Given the description of an element on the screen output the (x, y) to click on. 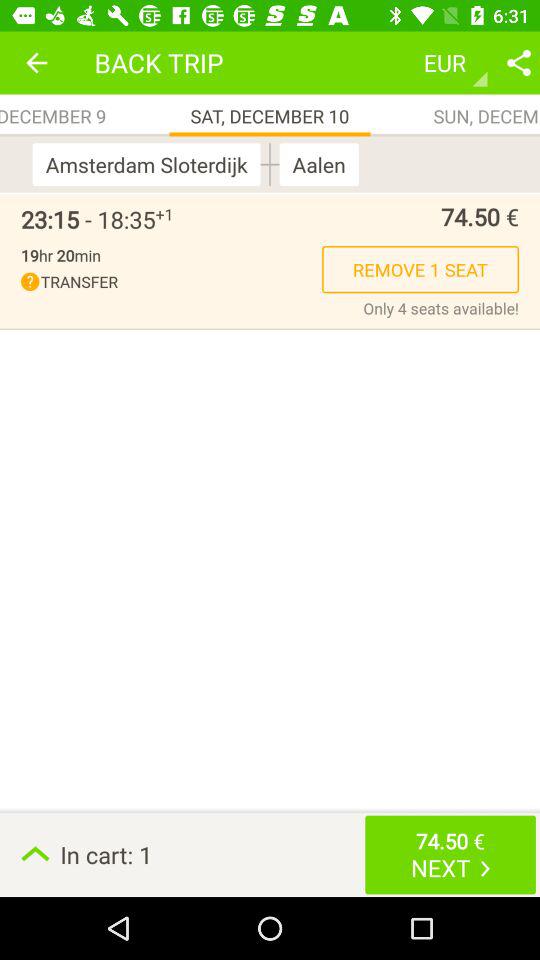
open the transfer item (171, 281)
